Given the description of an element on the screen output the (x, y) to click on. 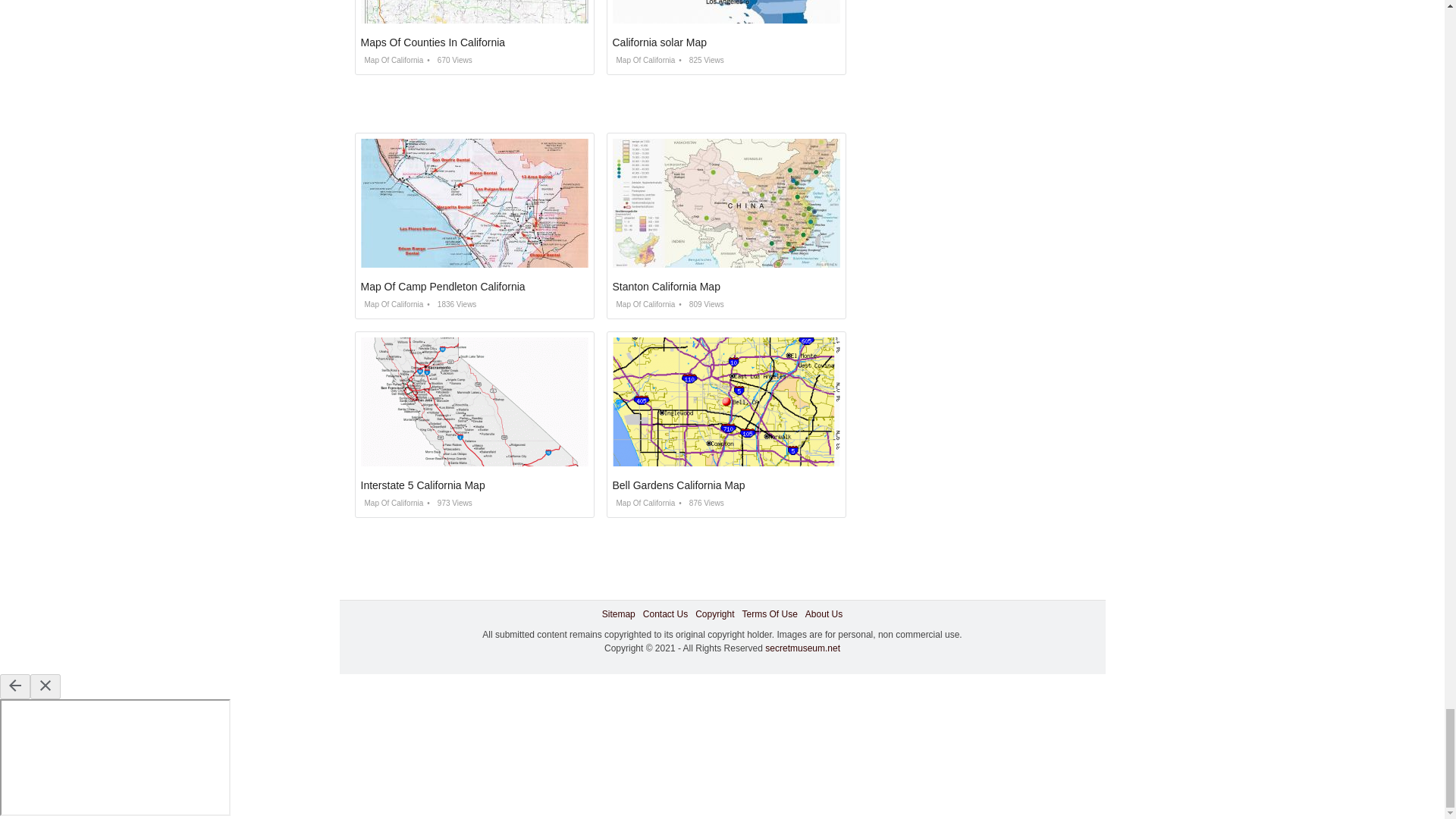
Maps Of Counties In California (433, 42)
Map Of Camp Pendleton California (443, 286)
Interstate 5 California Map (422, 485)
California solar Map (659, 42)
Map Of California (392, 304)
Map Of California (643, 60)
Map Of California (392, 502)
Map Of California (643, 304)
Stanton California Map (666, 286)
Map Of California (392, 60)
